Given the description of an element on the screen output the (x, y) to click on. 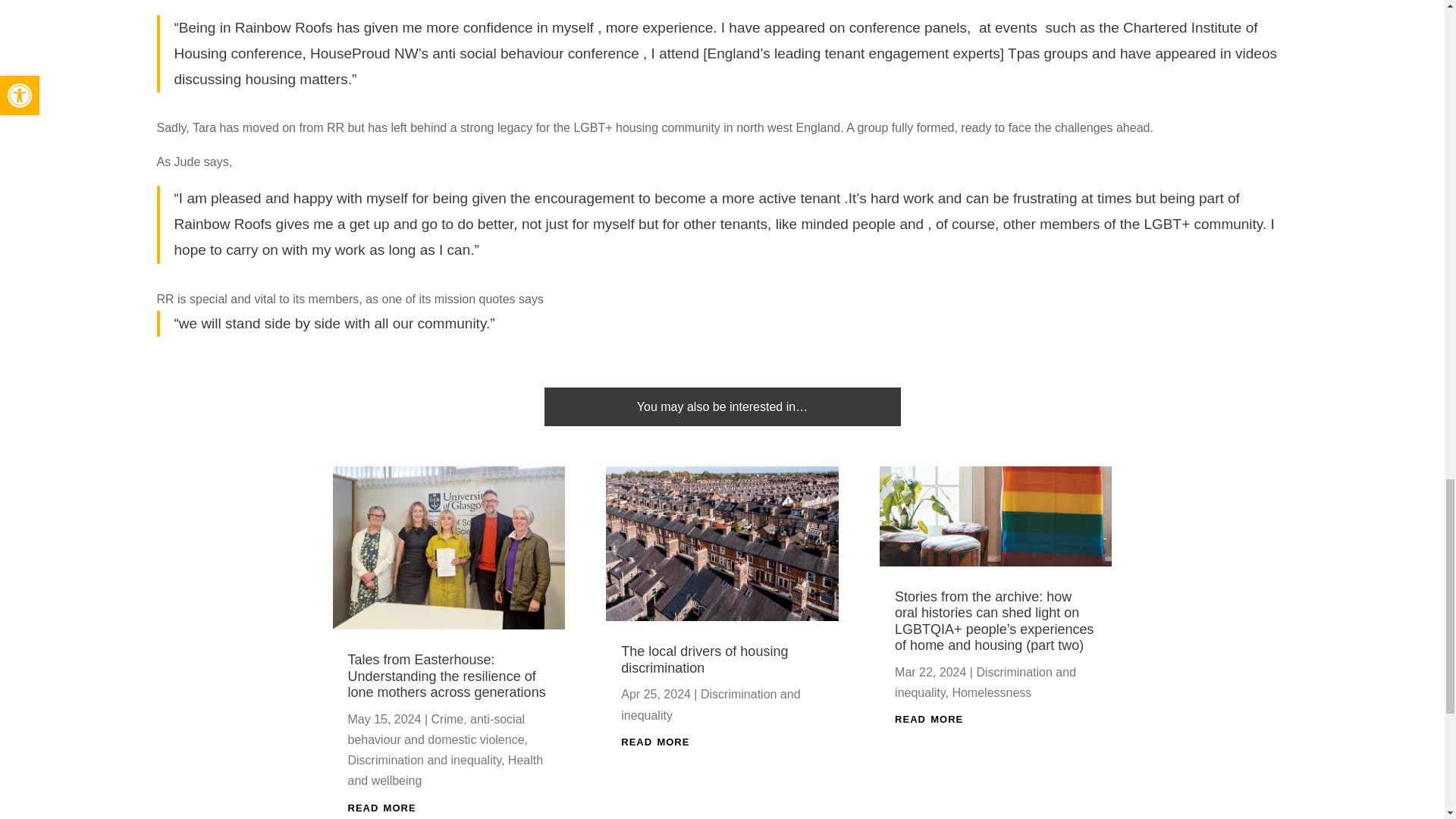
Crime, anti-social behaviour and domestic violence (435, 729)
Discrimination and inequality (423, 759)
